Given the description of an element on the screen output the (x, y) to click on. 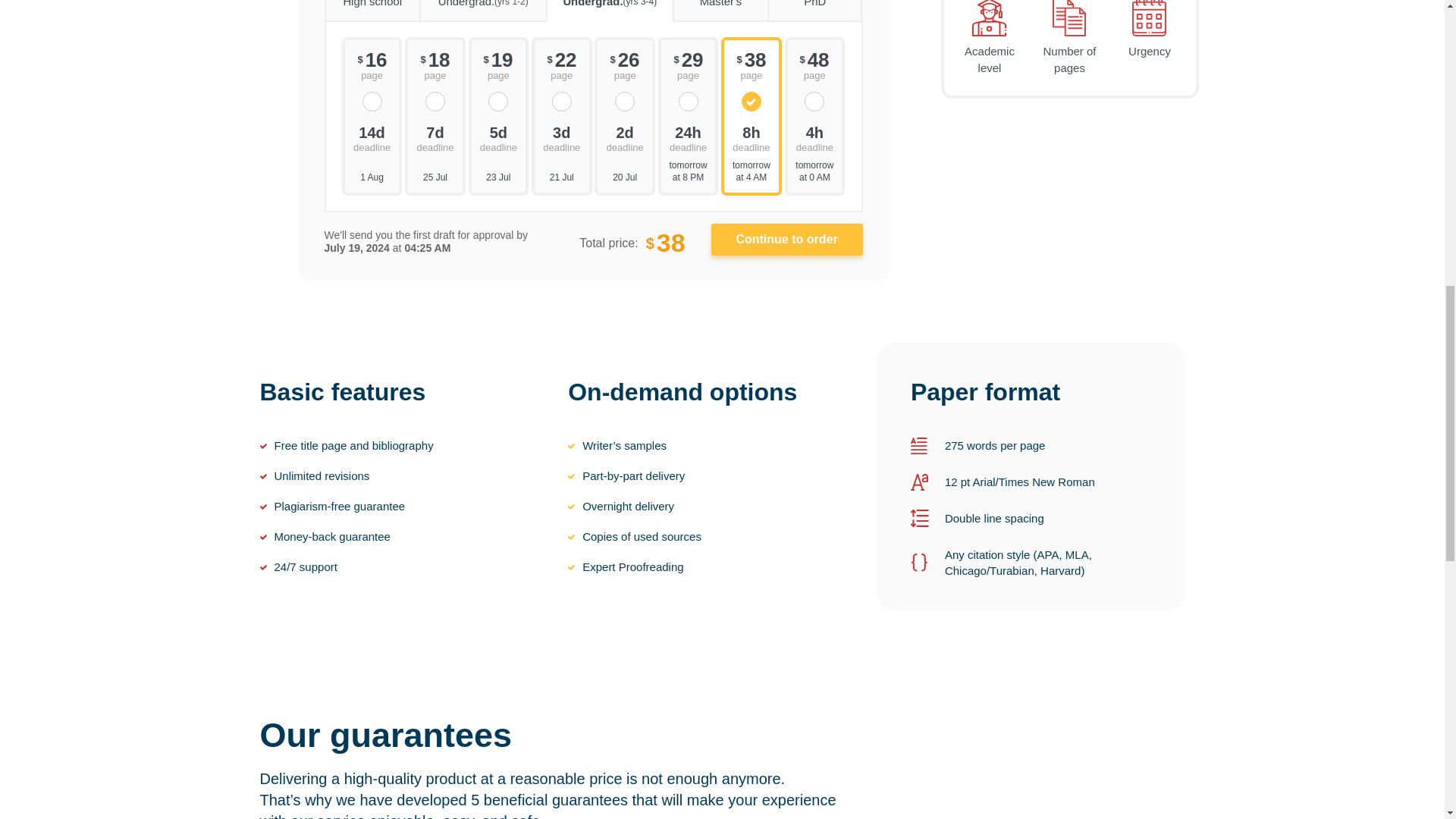
5 days (499, 137)
8 hours (751, 137)
Continue to Order (787, 239)
Continue to order (787, 239)
3 days (561, 137)
7 days (435, 137)
4 hours (815, 137)
Continue to order (787, 239)
14 days (372, 137)
2 days (624, 137)
24 hours (688, 137)
